Given the description of an element on the screen output the (x, y) to click on. 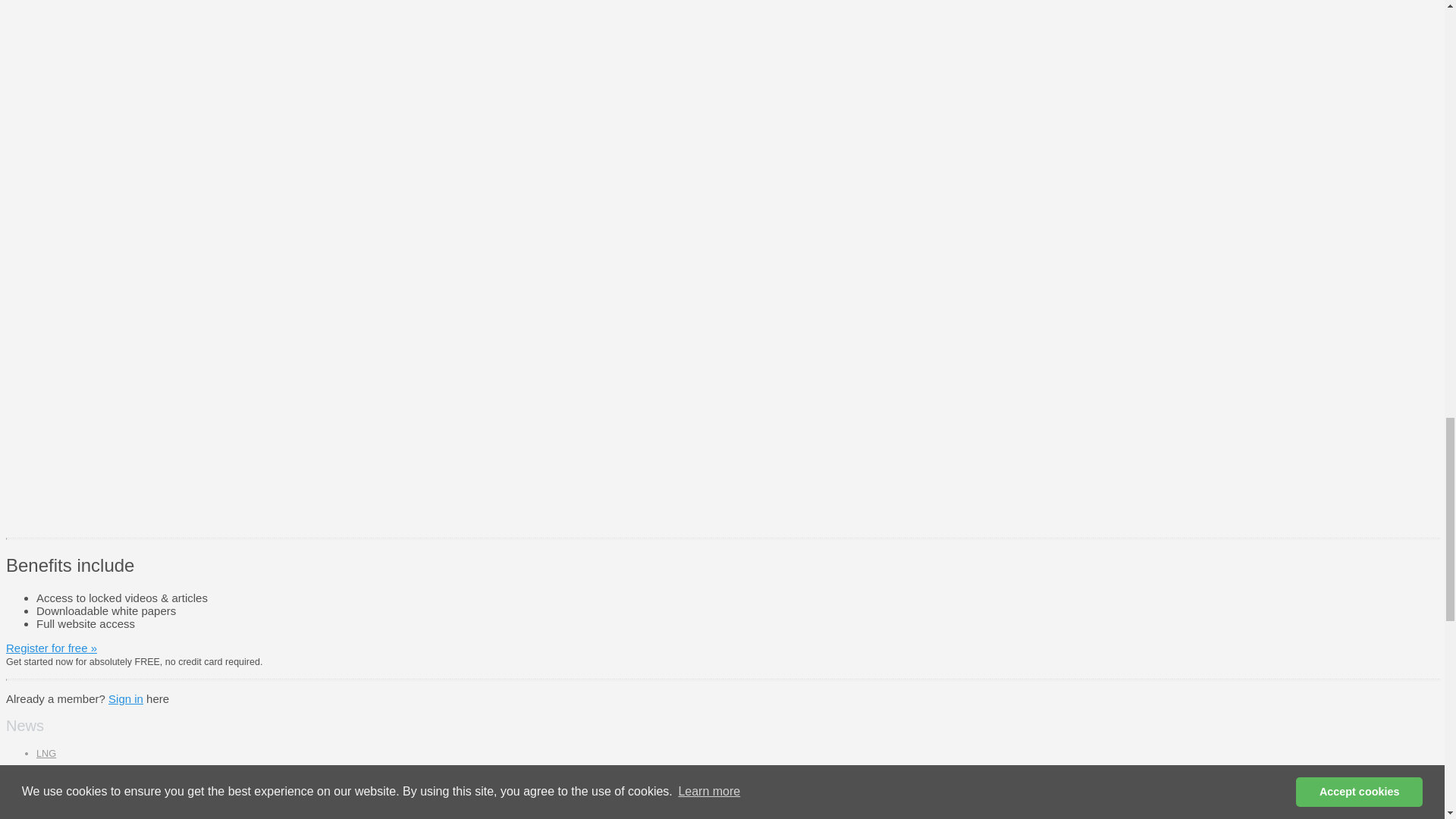
3rd party ad content (774, 427)
3rd party ad content (774, 218)
3rd party ad content (774, 52)
